Given the description of an element on the screen output the (x, y) to click on. 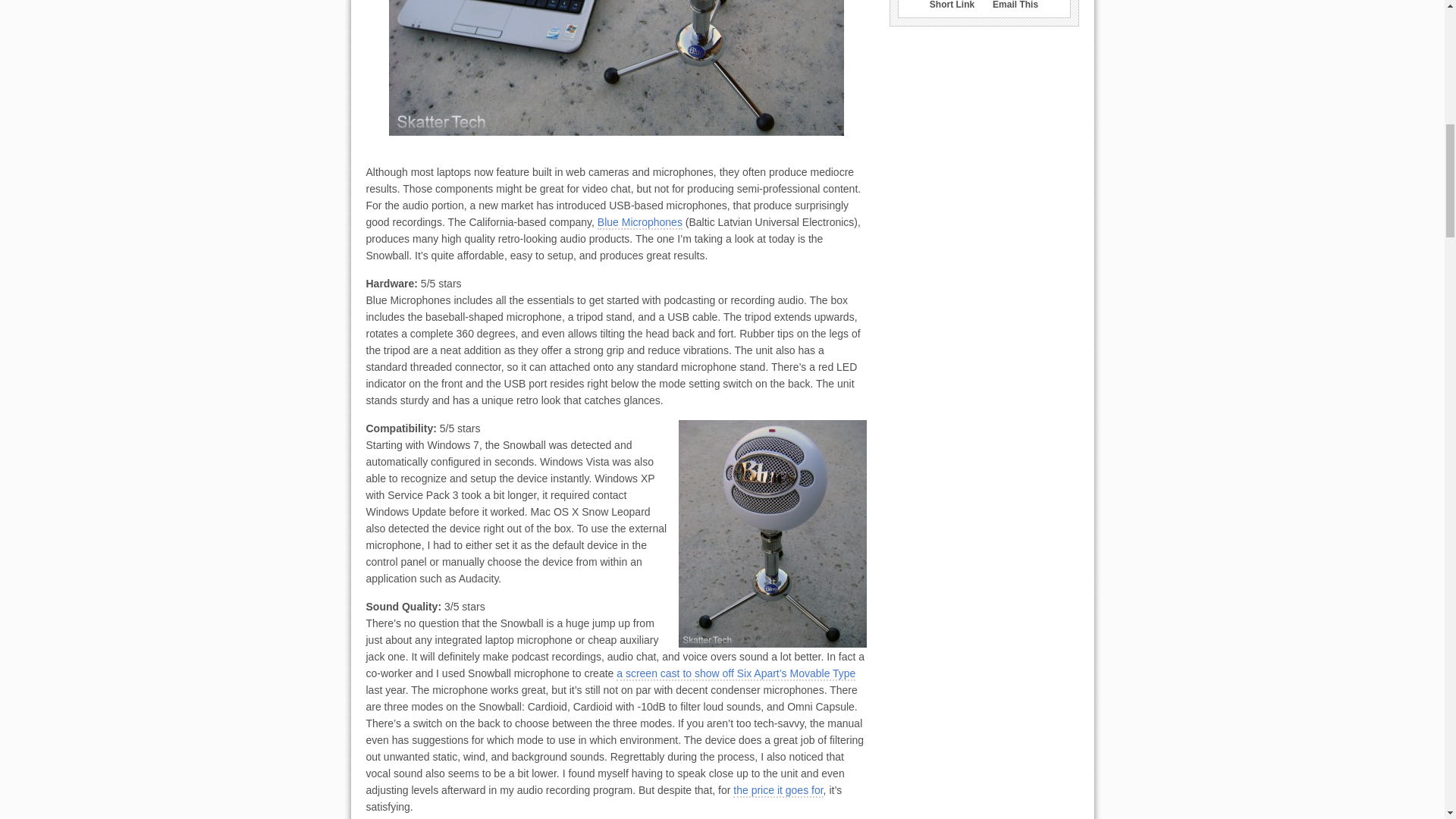
the price it goes for (777, 790)
Blue Microphones (639, 223)
